Given the description of an element on the screen output the (x, y) to click on. 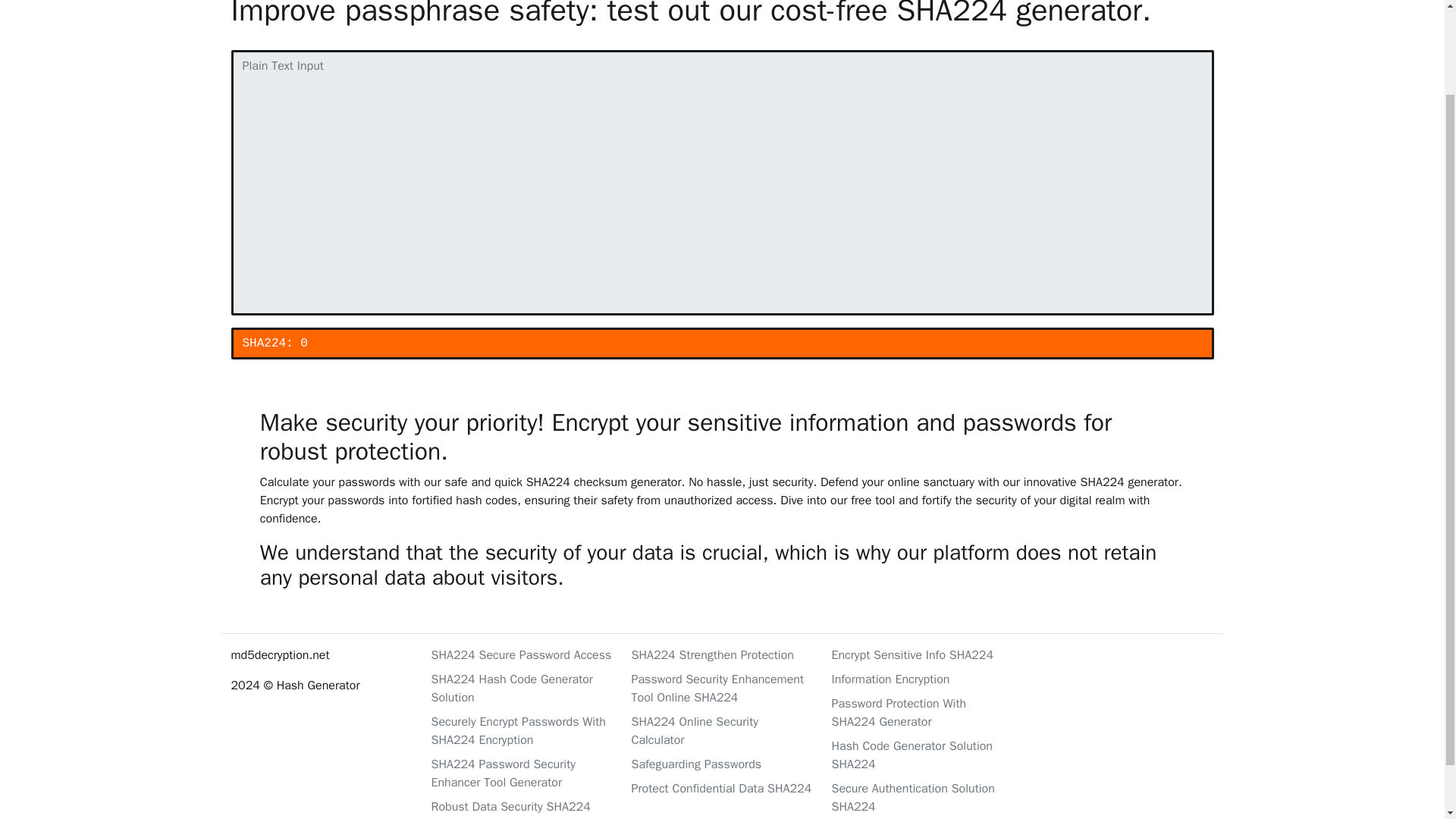
Robust Data Security SHA224 (521, 806)
Hash Code Generator Solution SHA224 (922, 755)
SHA224 Password Security Enhancer Tool Generator (521, 773)
Protect Confidential Data SHA224 (721, 788)
Encrypt Sensitive Info SHA224 (922, 655)
SHA224 Online Security Calculator (721, 730)
Secure Authentication Solution SHA224 (922, 797)
Password Security Enhancement Tool Online SHA224 (721, 688)
Password Protection With SHA224 Generator (922, 712)
Safeguarding Passwords (721, 764)
